Given the description of an element on the screen output the (x, y) to click on. 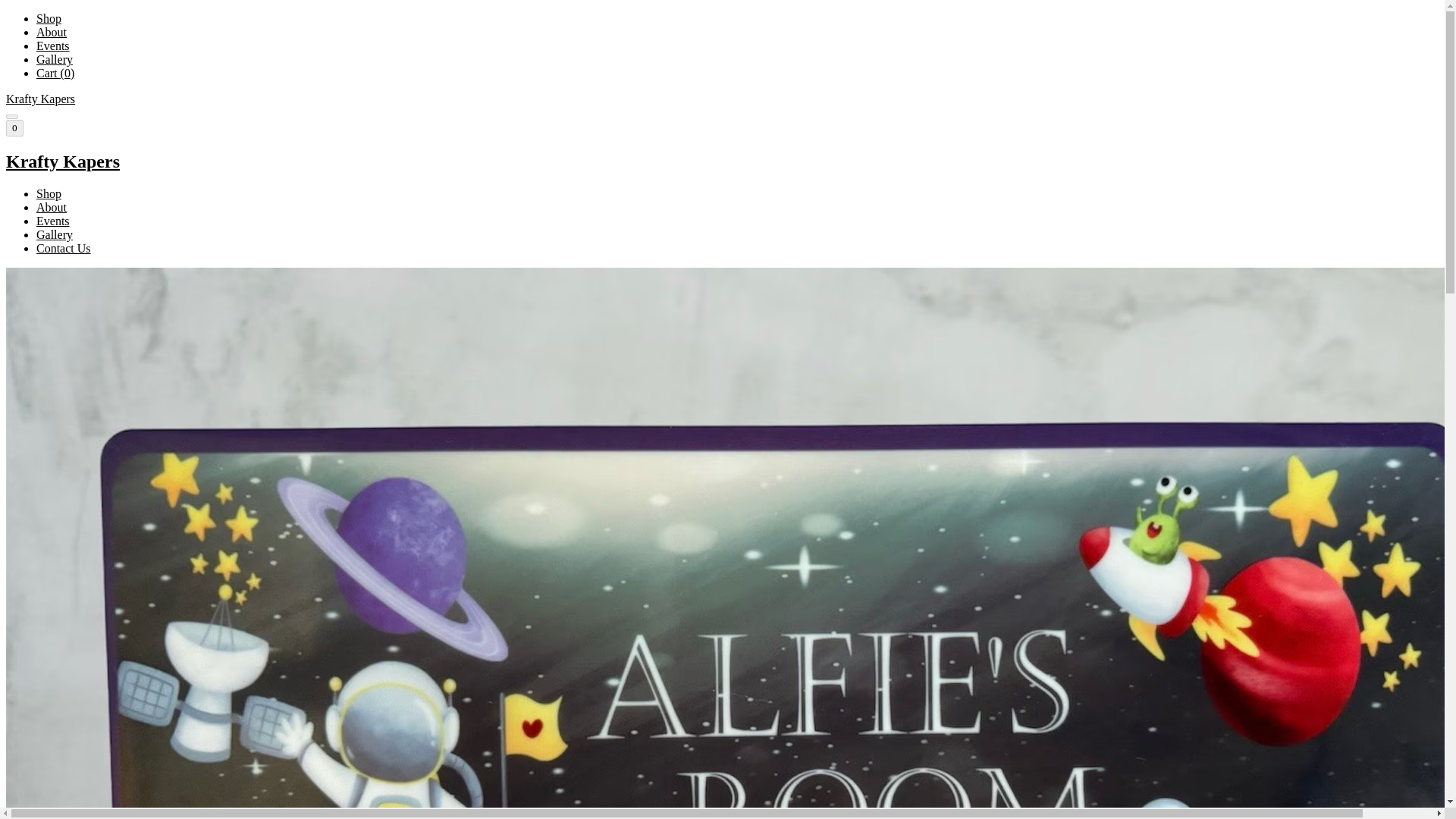
Shop (48, 18)
Events (52, 45)
Shop (48, 193)
About (51, 206)
Krafty Kapers (721, 161)
Events (52, 220)
Gallery (54, 59)
About (51, 31)
Gallery (54, 234)
